Given the description of an element on the screen output the (x, y) to click on. 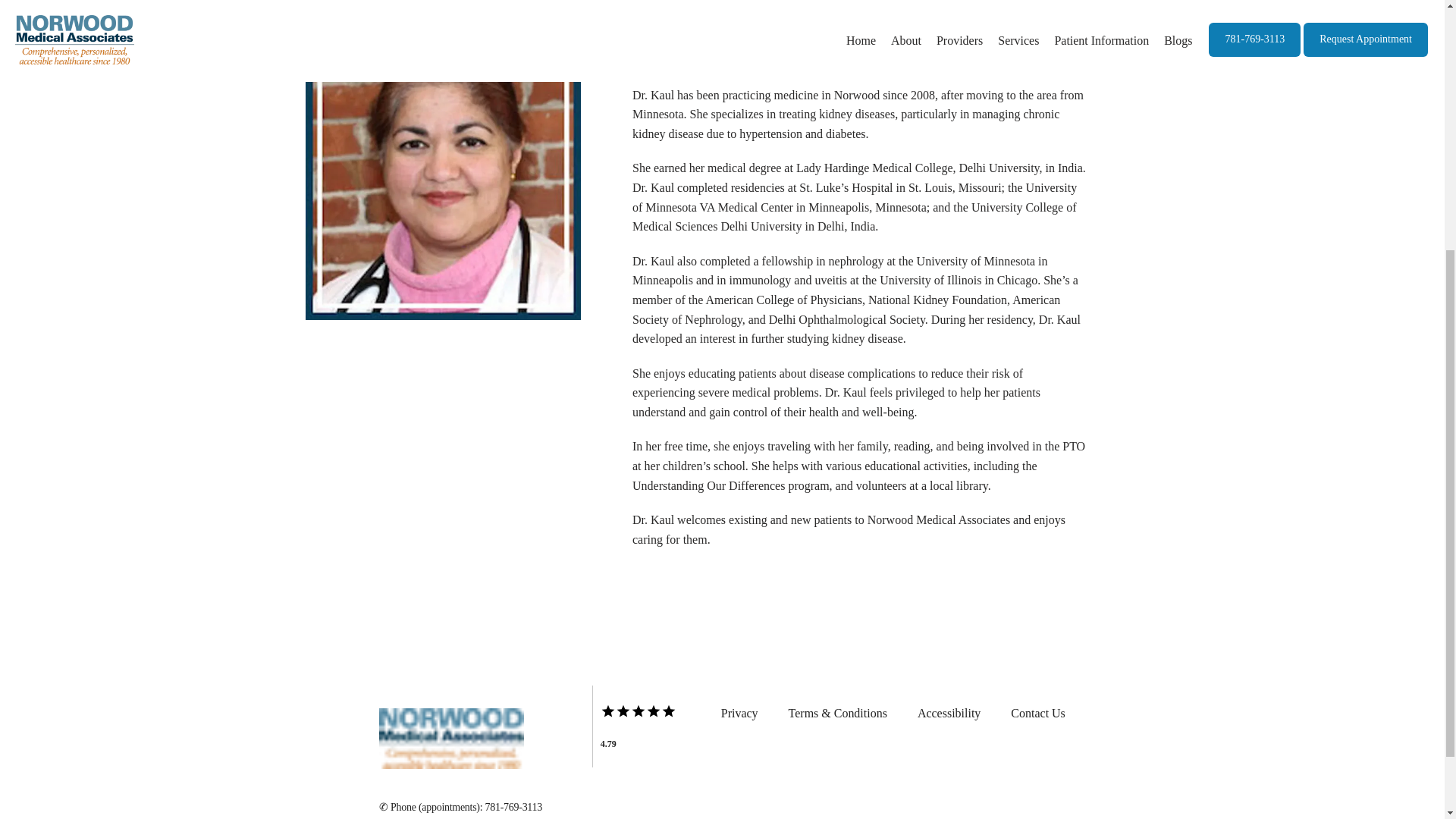
Contact Us (1037, 712)
Accessibility (948, 712)
Privacy (739, 712)
